Given the description of an element on the screen output the (x, y) to click on. 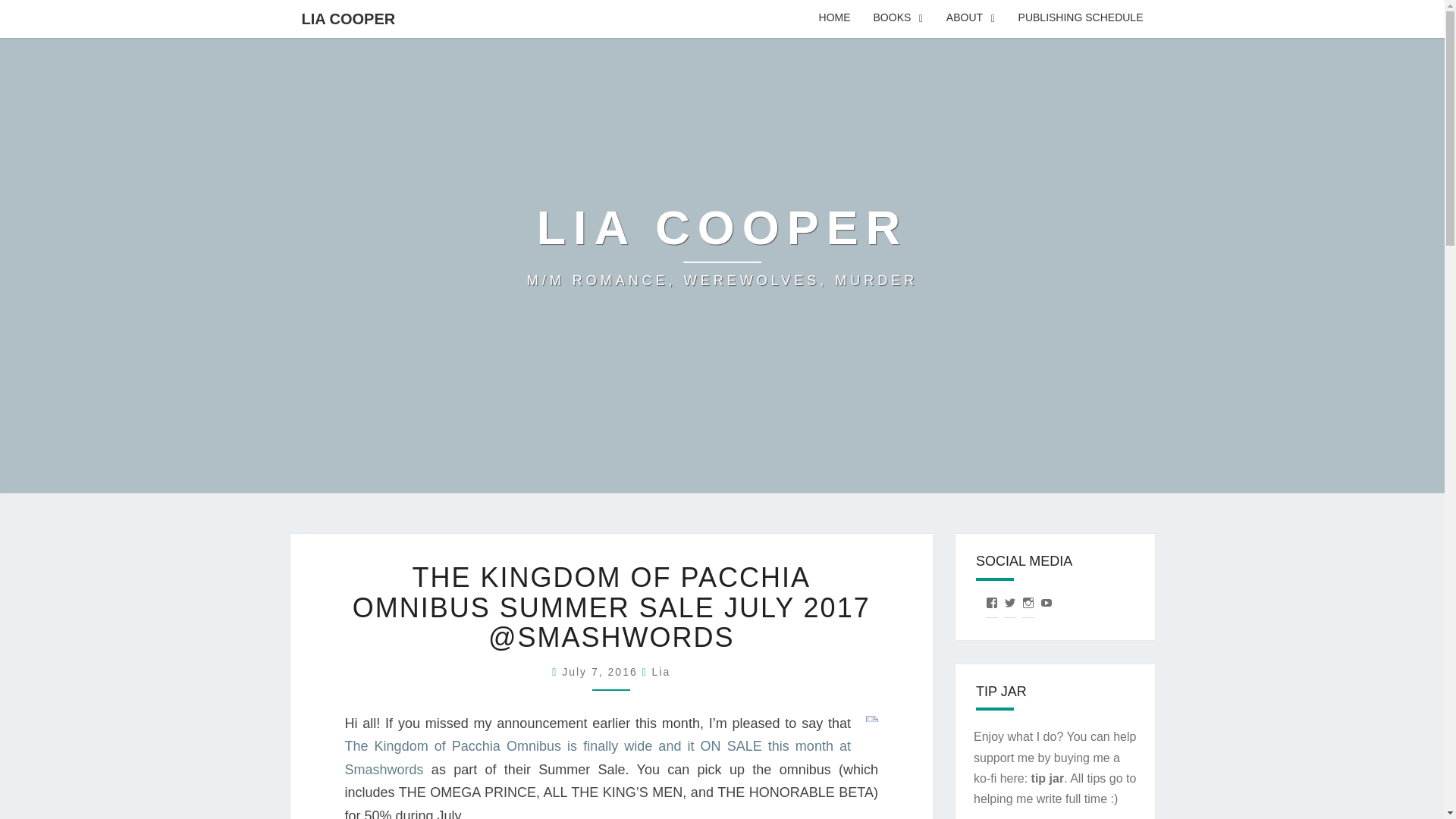
View all posts by Lia (661, 671)
Lia (661, 671)
7:33 PM (602, 671)
tip jar (1047, 778)
HOME (834, 18)
July 7, 2016 (602, 671)
LIA COOPER (722, 246)
BOOKS (897, 18)
ABOUT (970, 18)
